Given the description of an element on the screen output the (x, y) to click on. 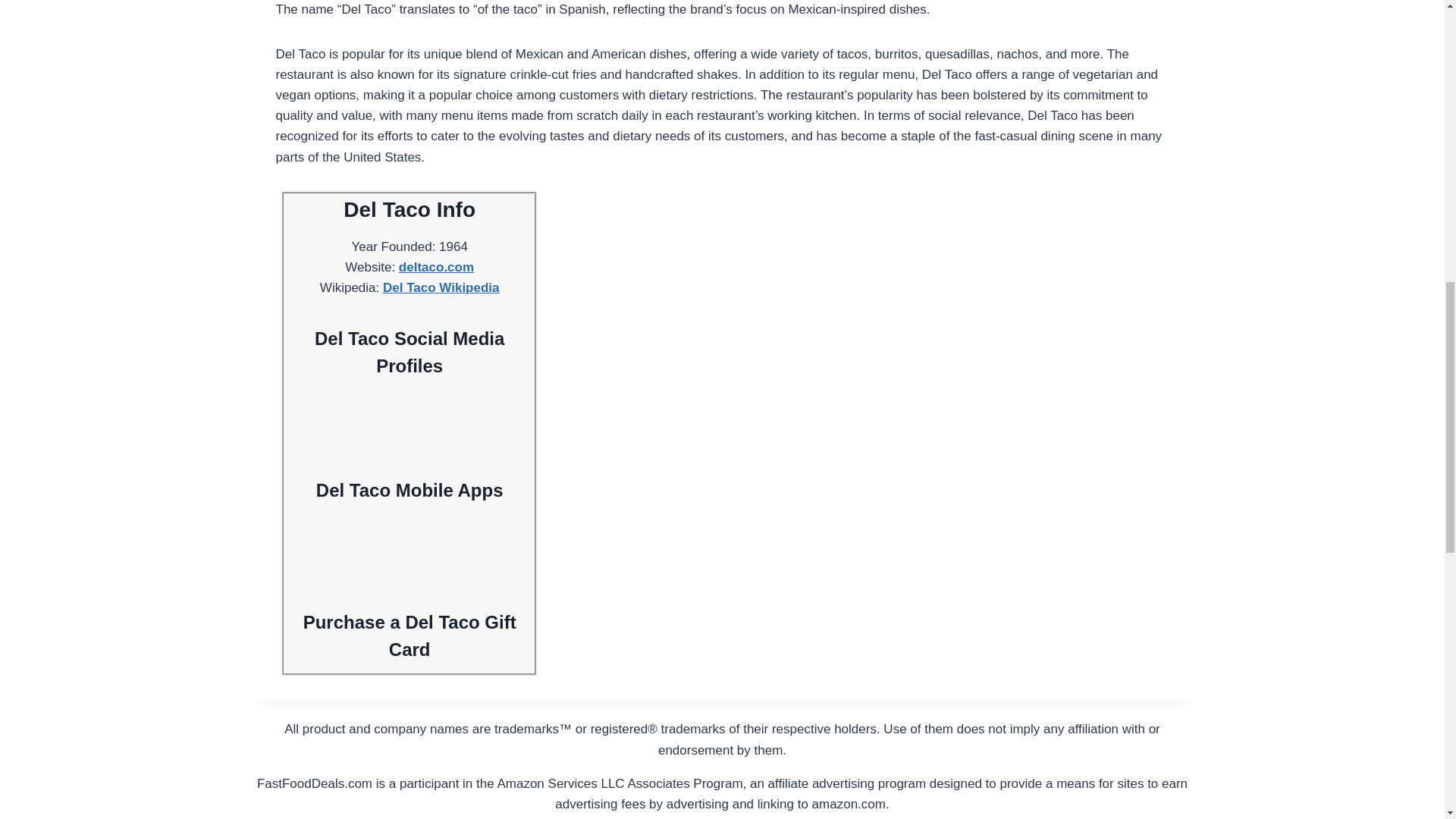
deltaco.com (436, 267)
Del Taco Wikipedia (440, 287)
